Given the description of an element on the screen output the (x, y) to click on. 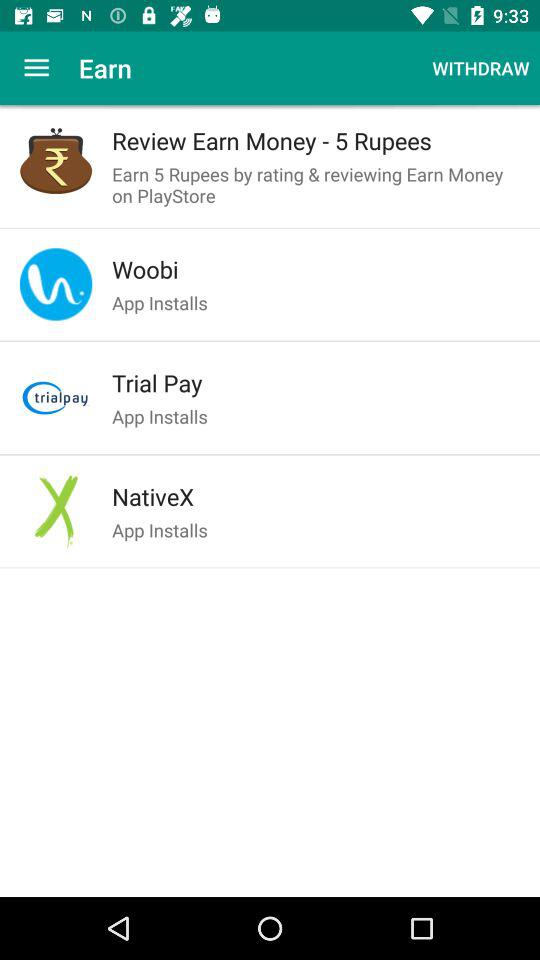
turn on the withdraw item (480, 67)
